Given the description of an element on the screen output the (x, y) to click on. 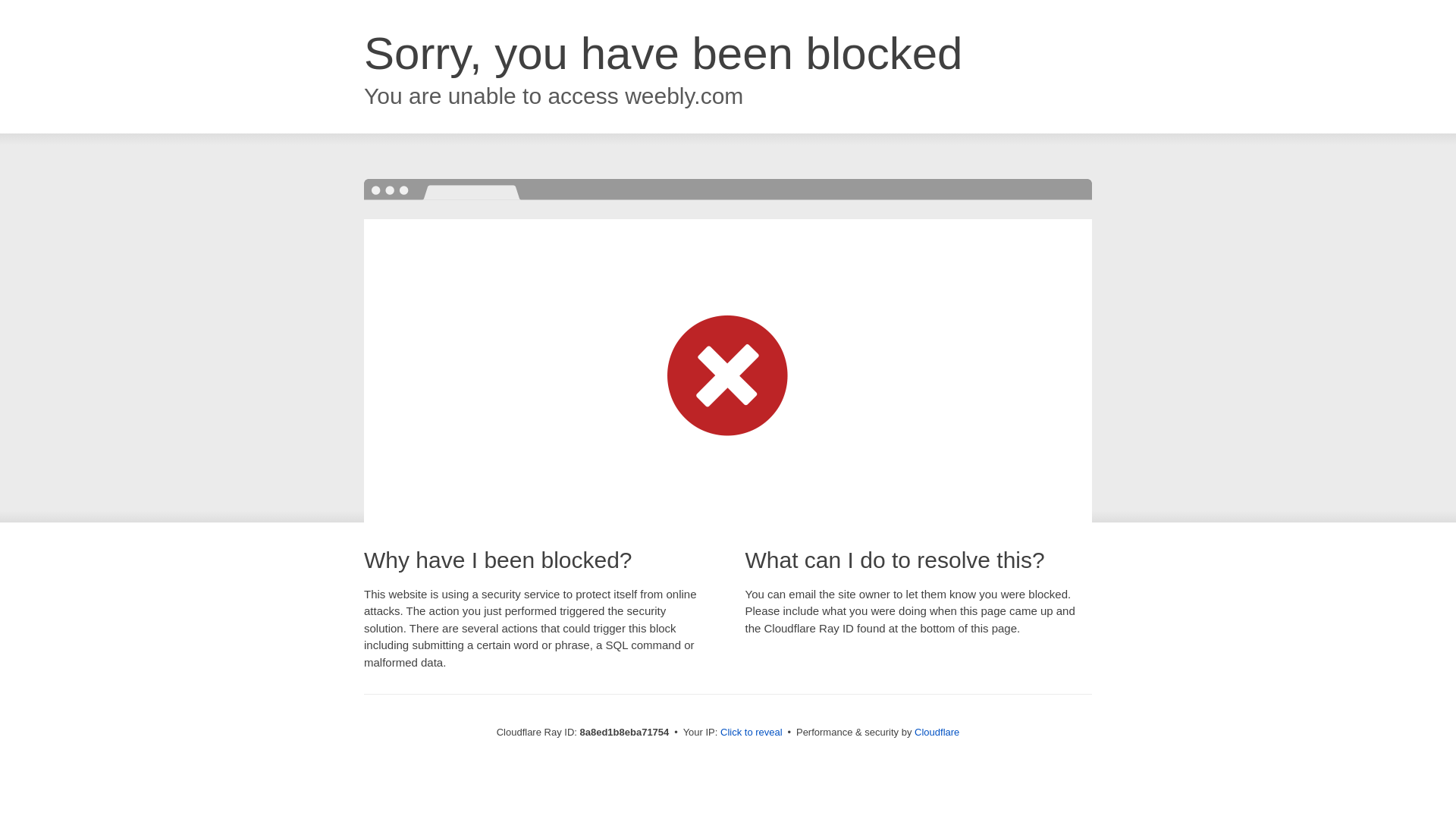
Cloudflare (936, 731)
Click to reveal (751, 732)
